Given the description of an element on the screen output the (x, y) to click on. 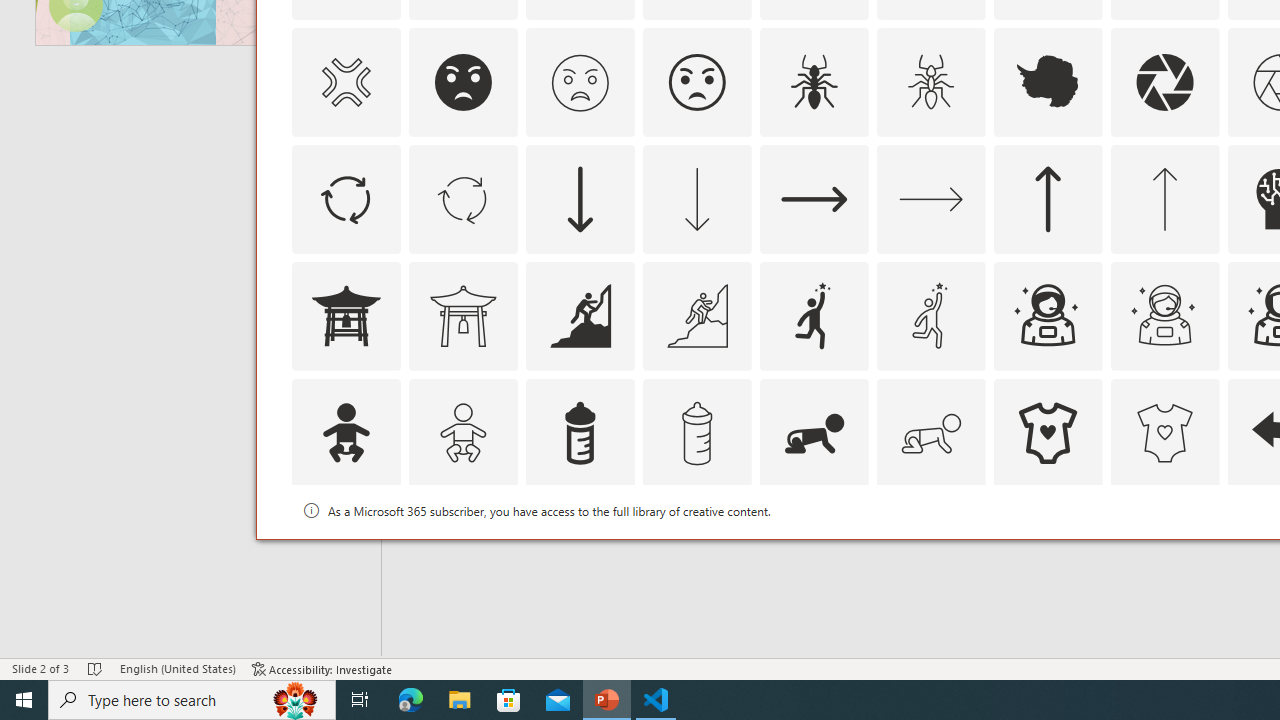
AutomationID: Icons_Badge2_M (579, 550)
AutomationID: Icons_AngryFace (463, 82)
AutomationID: Icons_Aspiration1 (813, 316)
AutomationID: Icons_Baby_M (463, 432)
AutomationID: Icons_AngerSymbol_M (345, 82)
AutomationID: Icons_Badge4 (930, 550)
